Given the description of an element on the screen output the (x, y) to click on. 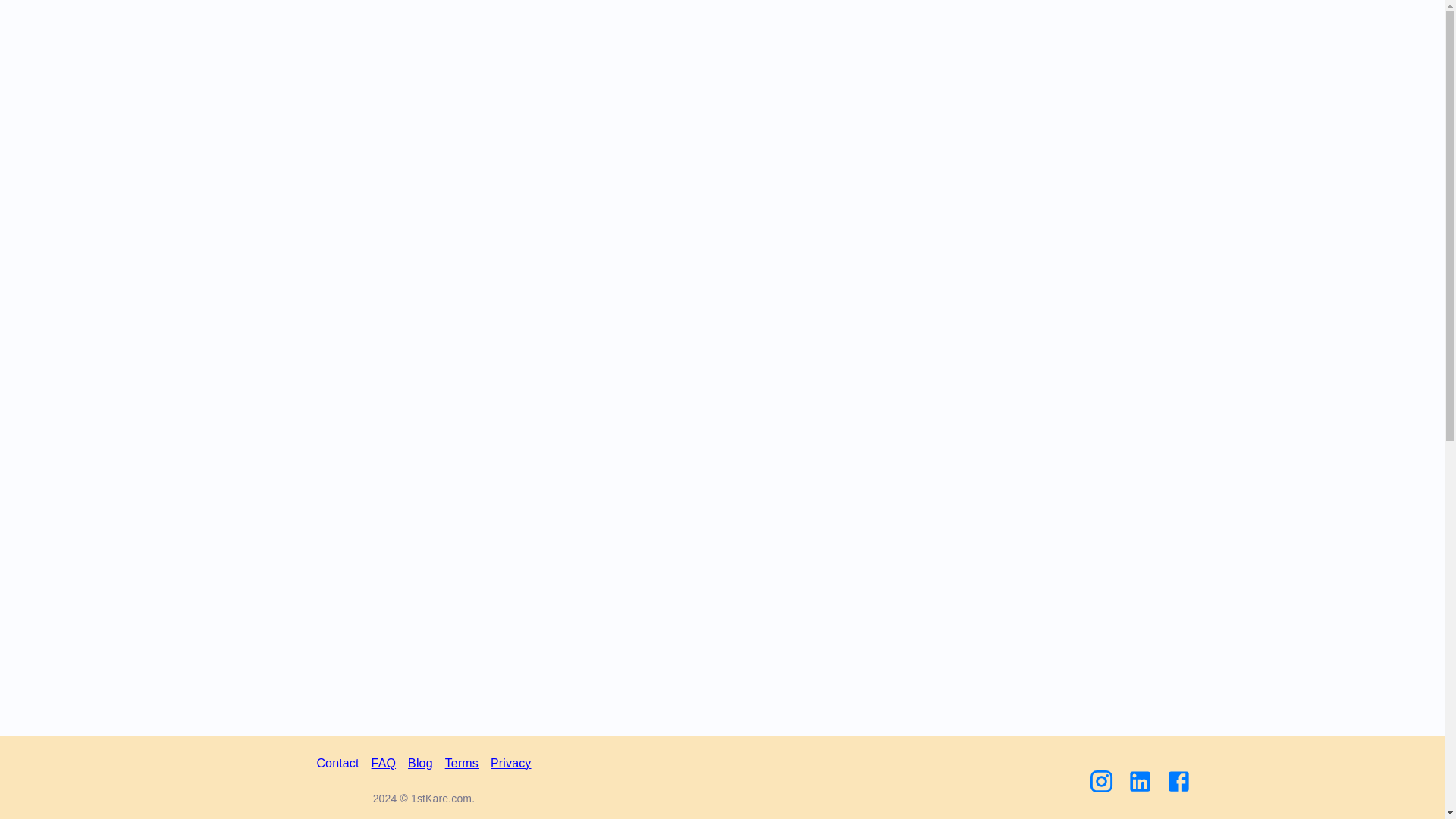
Blog (419, 763)
Privacy (510, 763)
FAQ (383, 763)
Contact (336, 763)
Terms (462, 763)
